Given the description of an element on the screen output the (x, y) to click on. 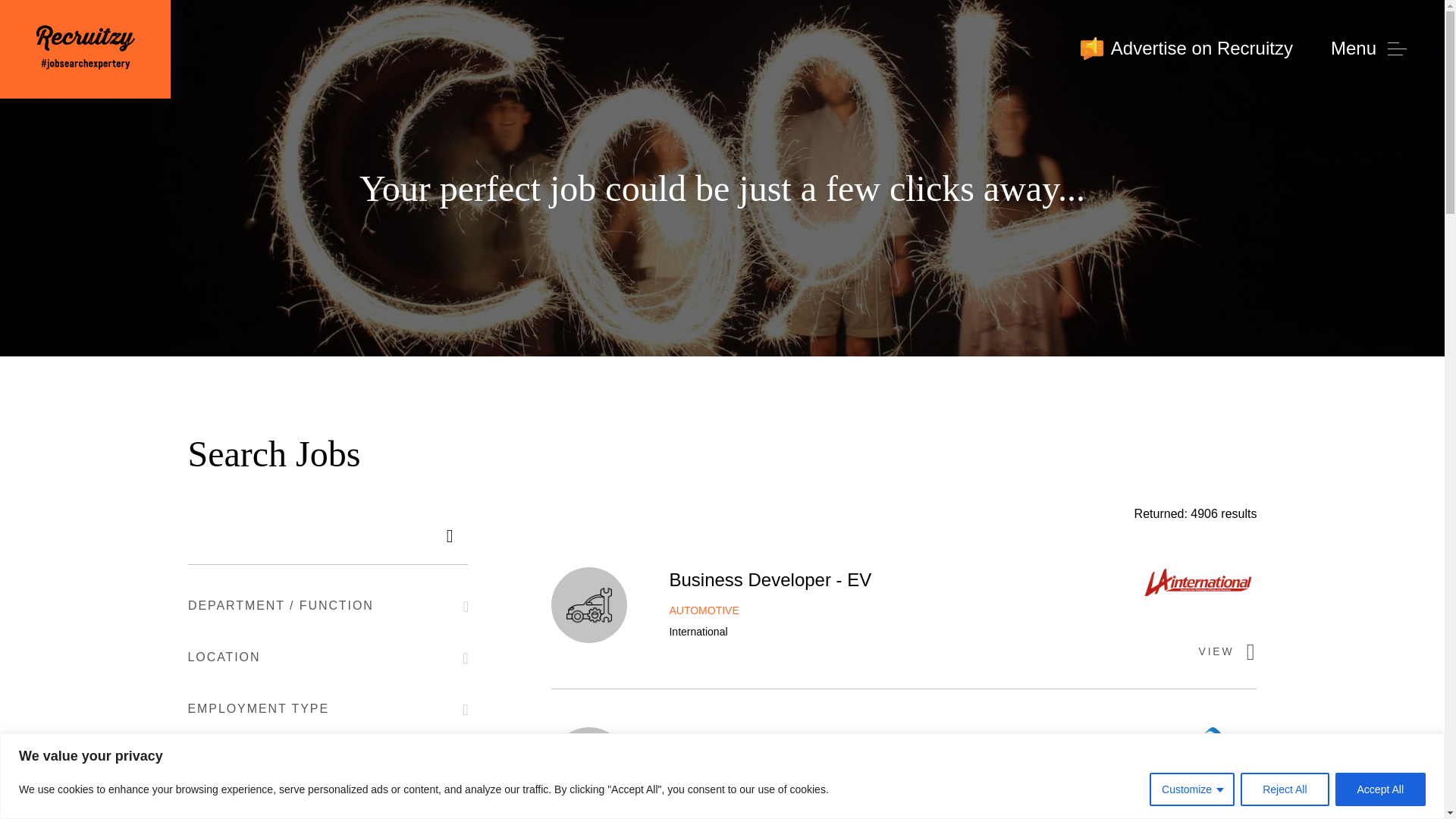
LA International Computer Consultants Ltd (1199, 586)
Accept All (1380, 788)
Reject All (1283, 788)
Automotive (588, 605)
Advertise on Recruitzy (1186, 48)
BWF Group (1211, 764)
Legal (588, 764)
Customize (1192, 788)
